Given the description of an element on the screen output the (x, y) to click on. 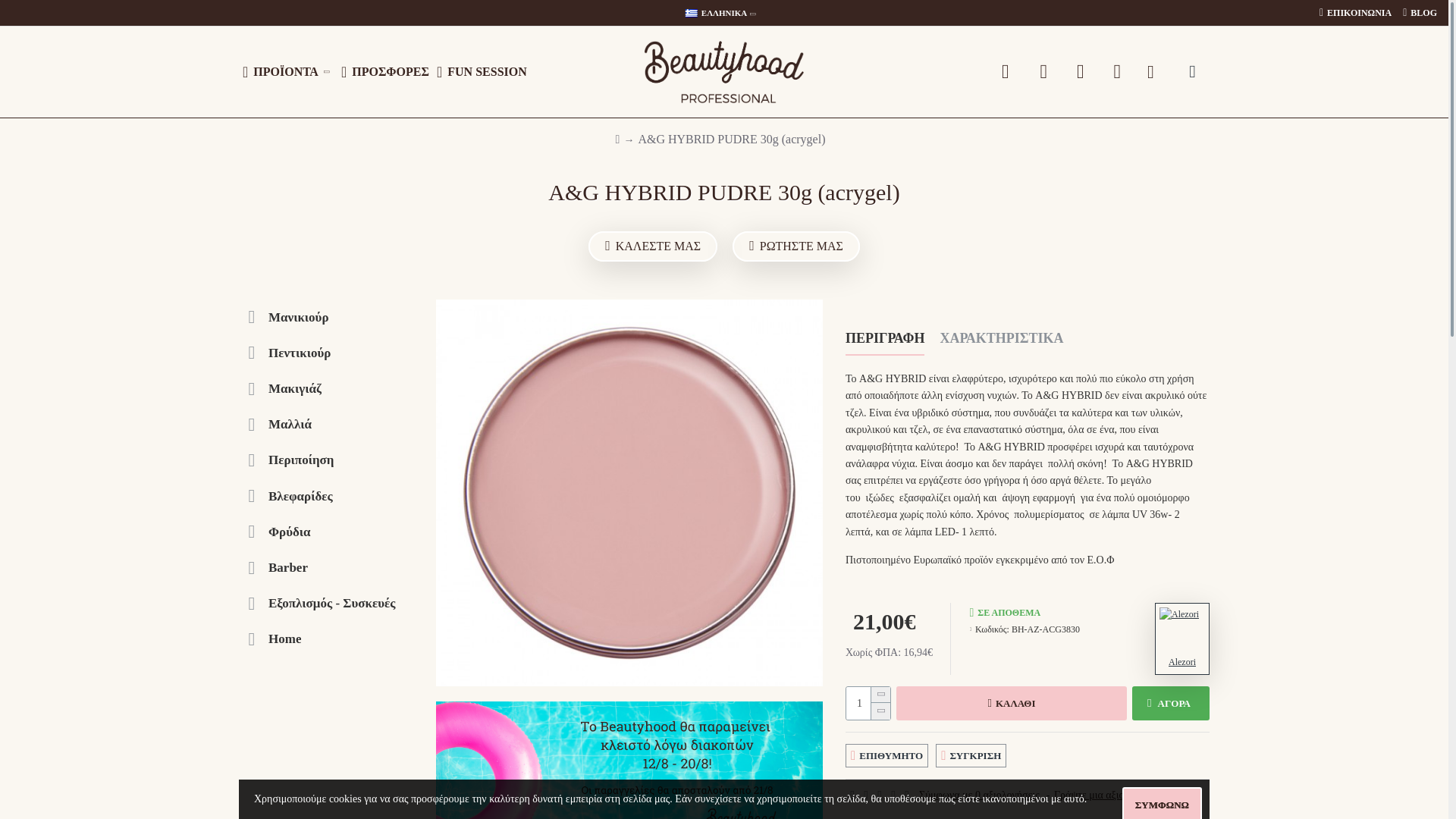
Beautyhood (724, 71)
1 (867, 703)
BLOG (1420, 13)
